Given the description of an element on the screen output the (x, y) to click on. 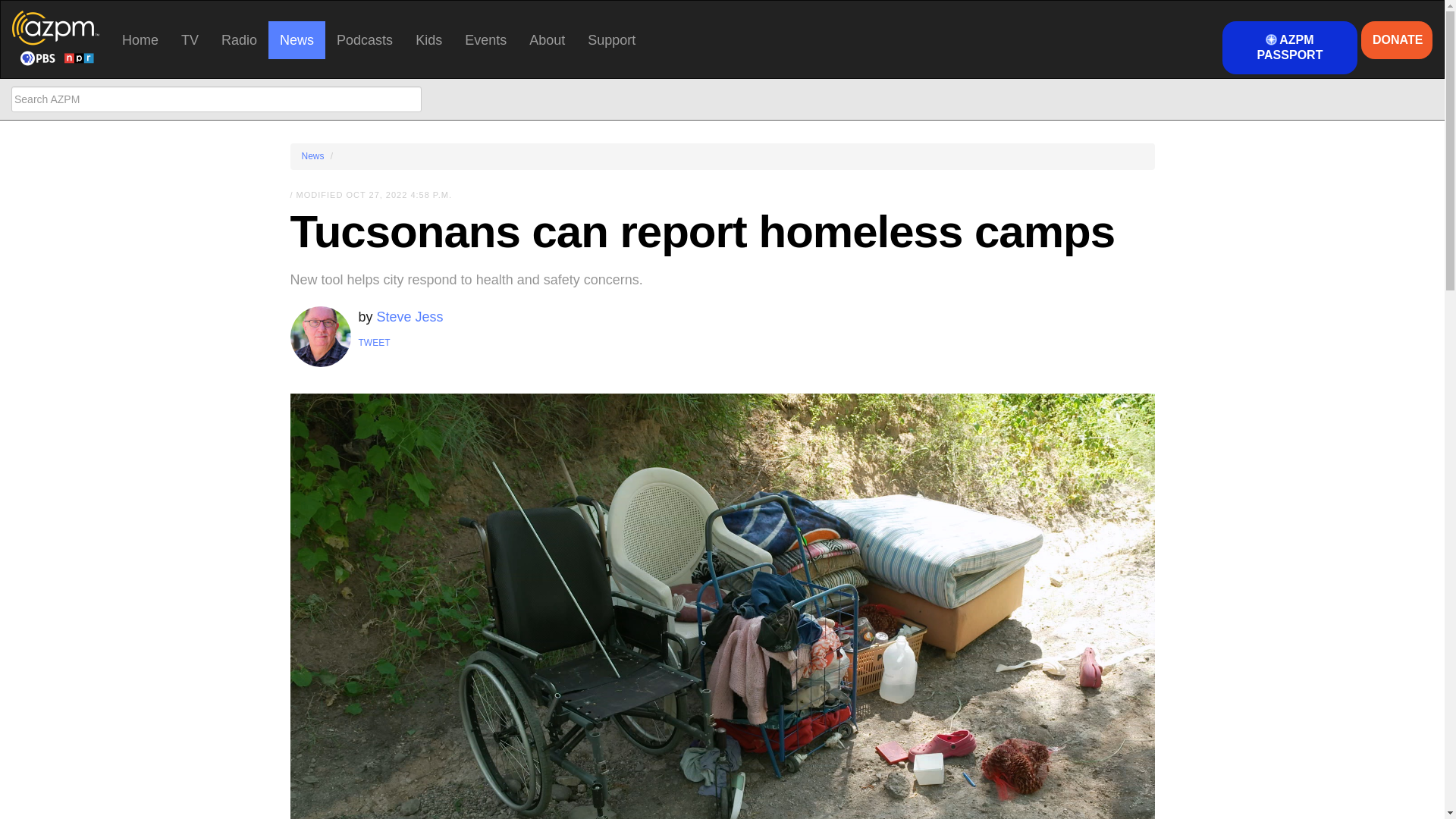
Home (140, 39)
About (547, 39)
News (295, 39)
Events (485, 39)
Radio (238, 39)
Kids (428, 39)
TV (189, 39)
Podcasts (364, 39)
